Given the description of an element on the screen output the (x, y) to click on. 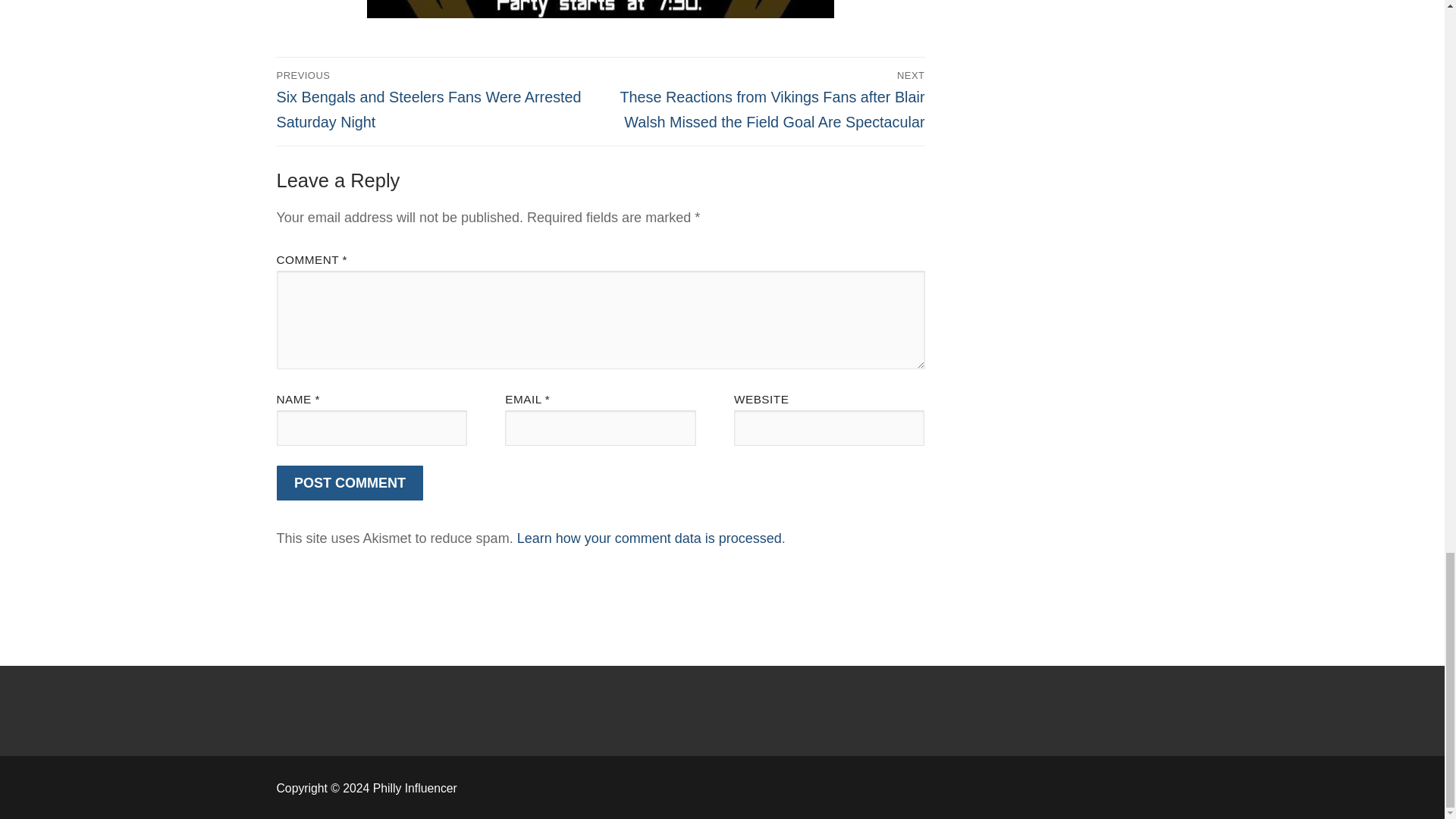
Post Comment (349, 483)
